Given the description of an element on the screen output the (x, y) to click on. 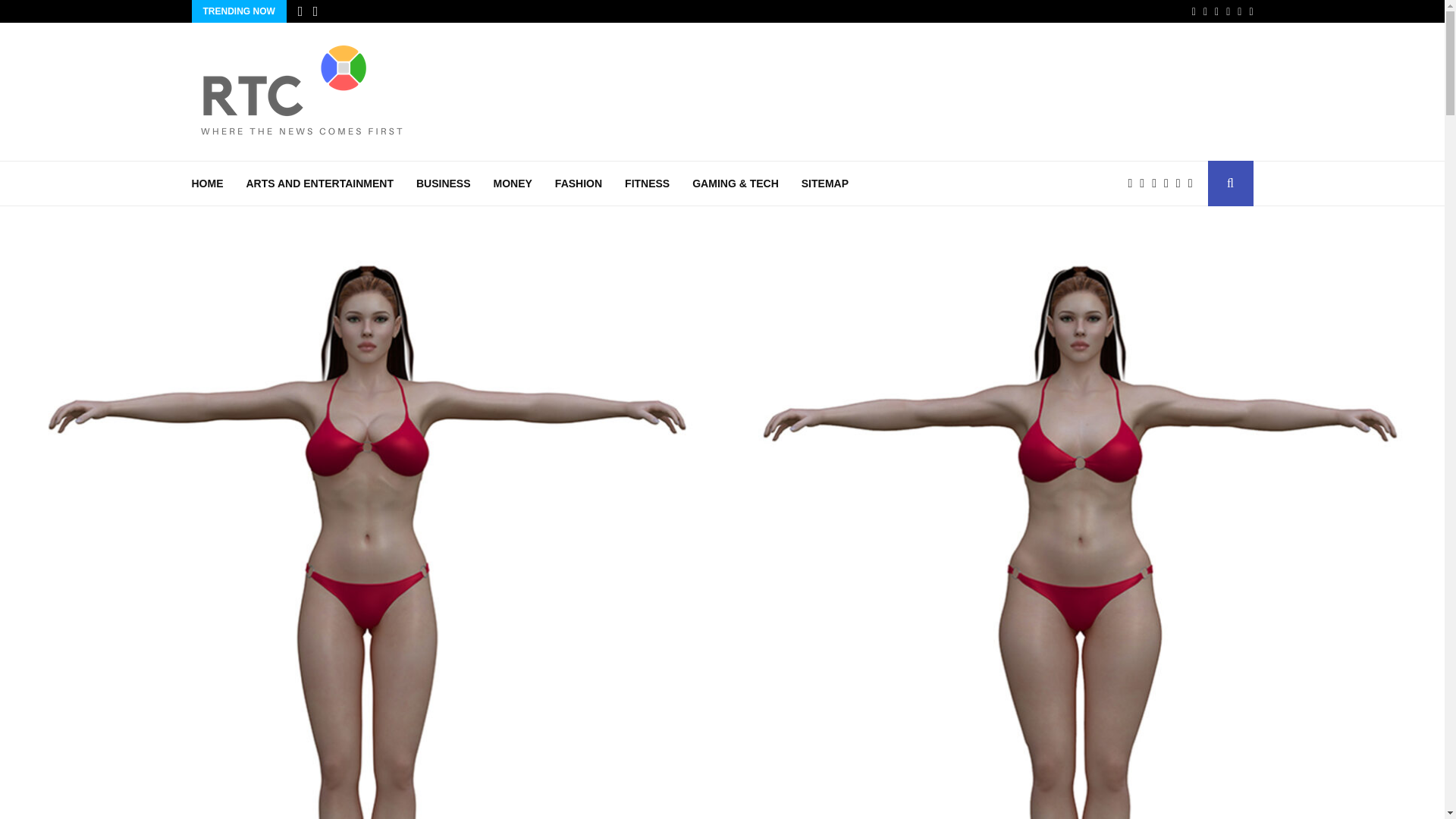
BUSINESS (443, 183)
SITEMAP (825, 183)
FITNESS (646, 183)
ARTS AND ENTERTAINMENT (319, 183)
FASHION (578, 183)
